Given the description of an element on the screen output the (x, y) to click on. 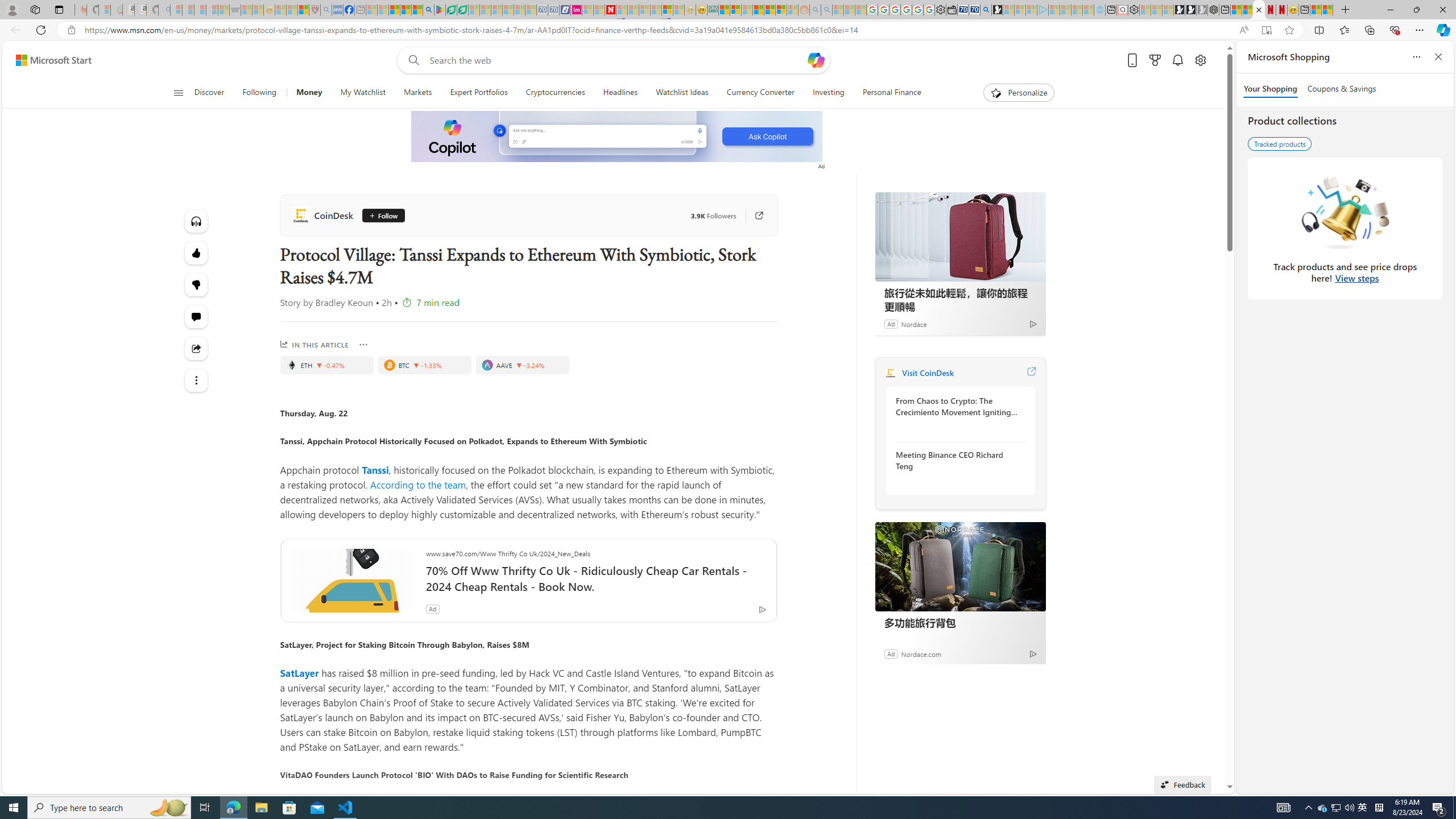
Price decrease (518, 364)
